Given the description of an element on the screen output the (x, y) to click on. 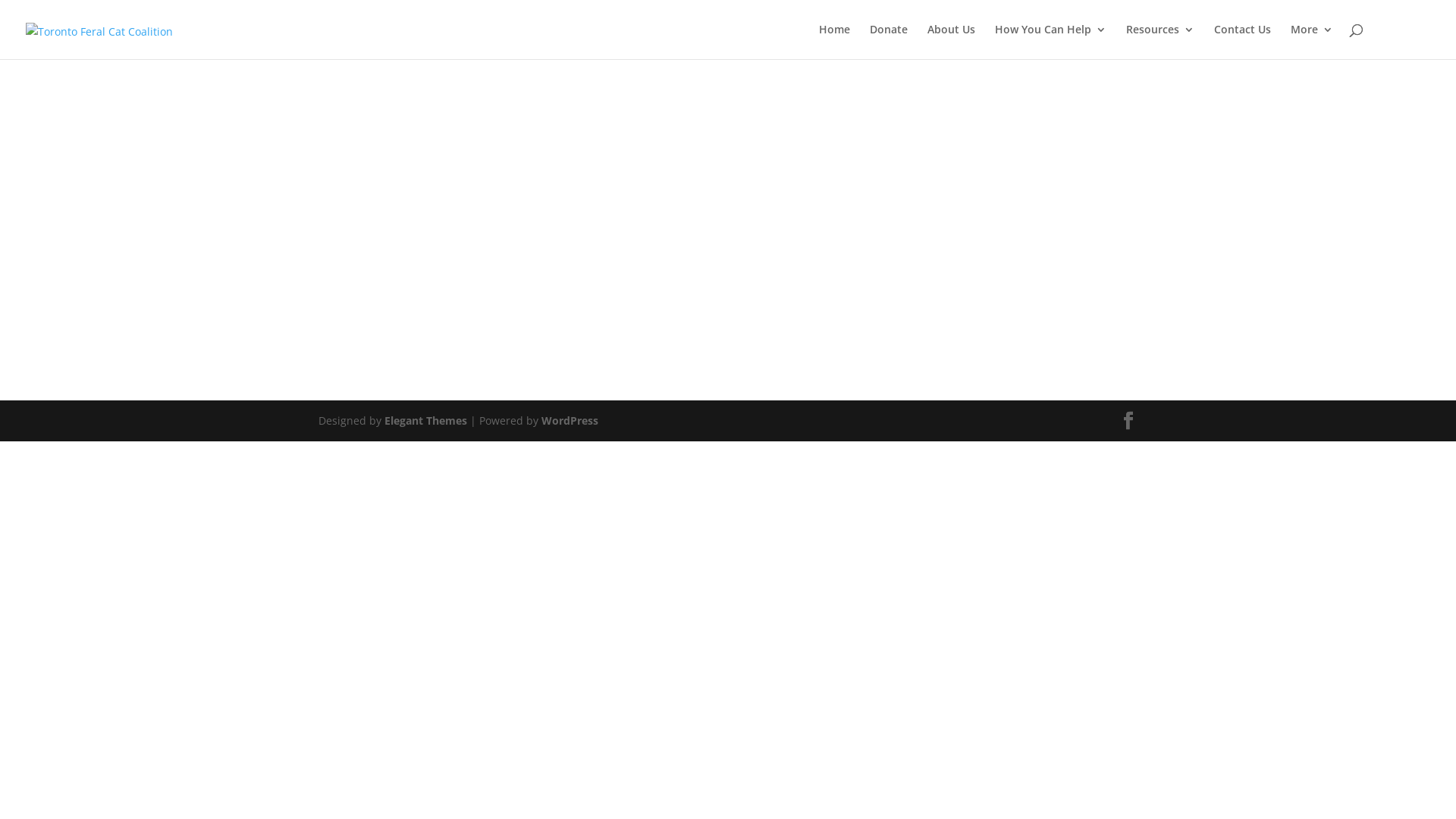
Elegant Themes Element type: text (425, 420)
WordPress Element type: text (569, 420)
More Element type: text (1311, 41)
Home Element type: text (834, 41)
Contact Us Element type: text (1242, 41)
About Us Element type: text (951, 41)
How You Can Help Element type: text (1050, 41)
Learn more Element type: text (727, 319)
Resources Element type: text (1160, 41)
Donate Element type: text (888, 41)
